Given the description of an element on the screen output the (x, y) to click on. 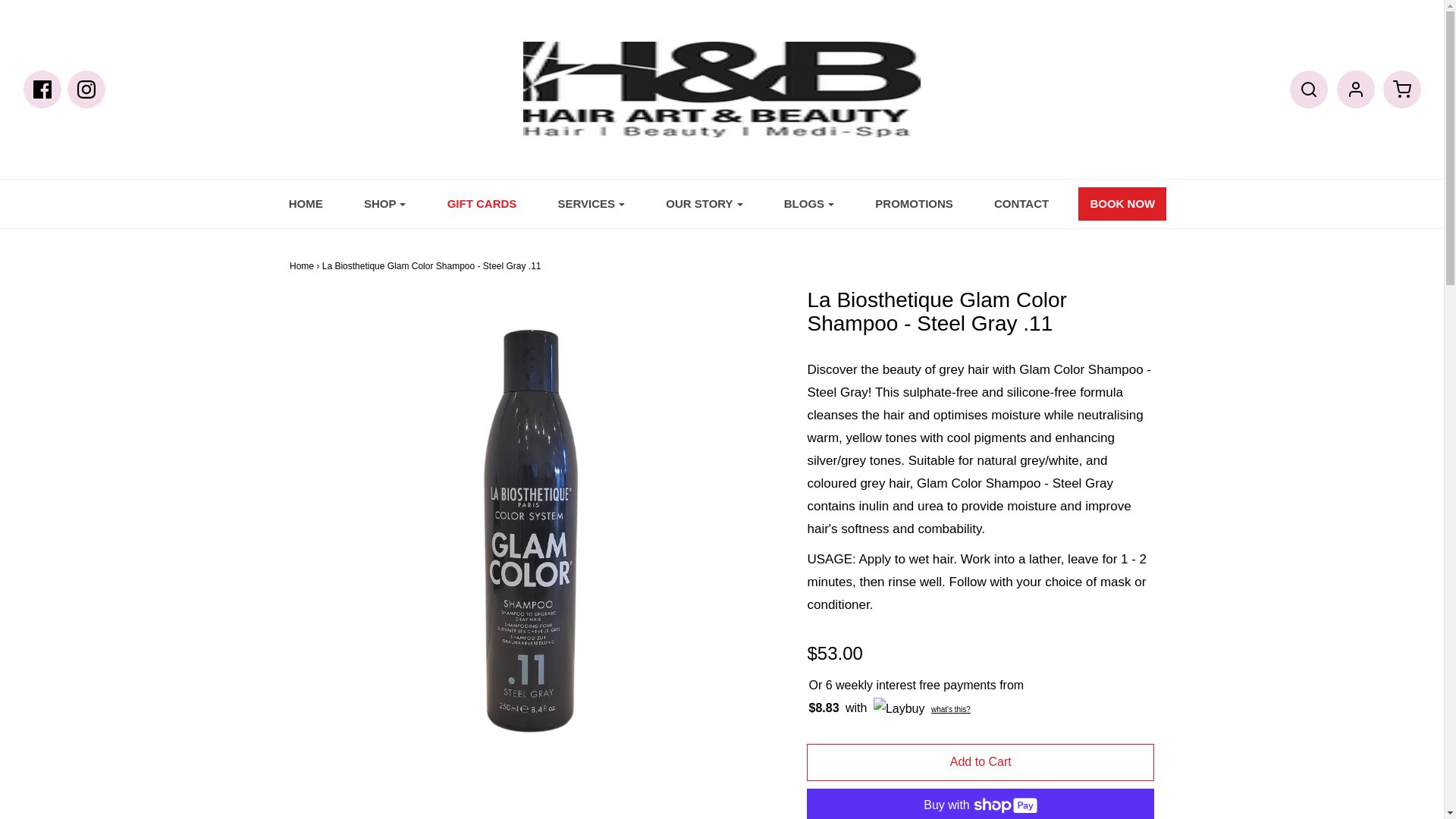
Log in (1355, 86)
Back to the frontpage (301, 266)
Instagram icon (86, 89)
Search (1308, 86)
Cart (1402, 86)
Facebook icon (41, 89)
